Given the description of an element on the screen output the (x, y) to click on. 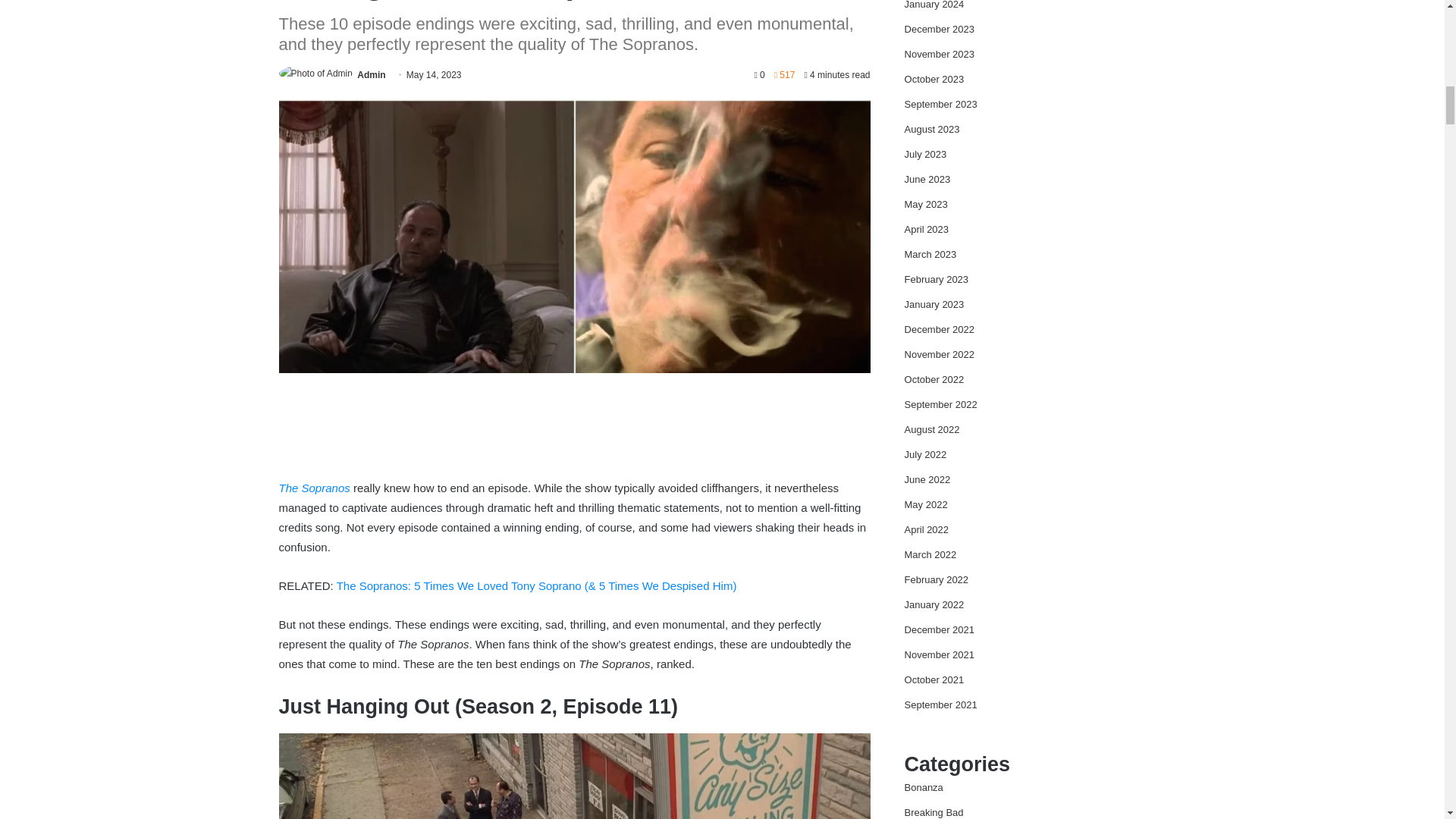
Admin (370, 74)
Admin (370, 74)
The Sopranos (314, 487)
